Given the description of an element on the screen output the (x, y) to click on. 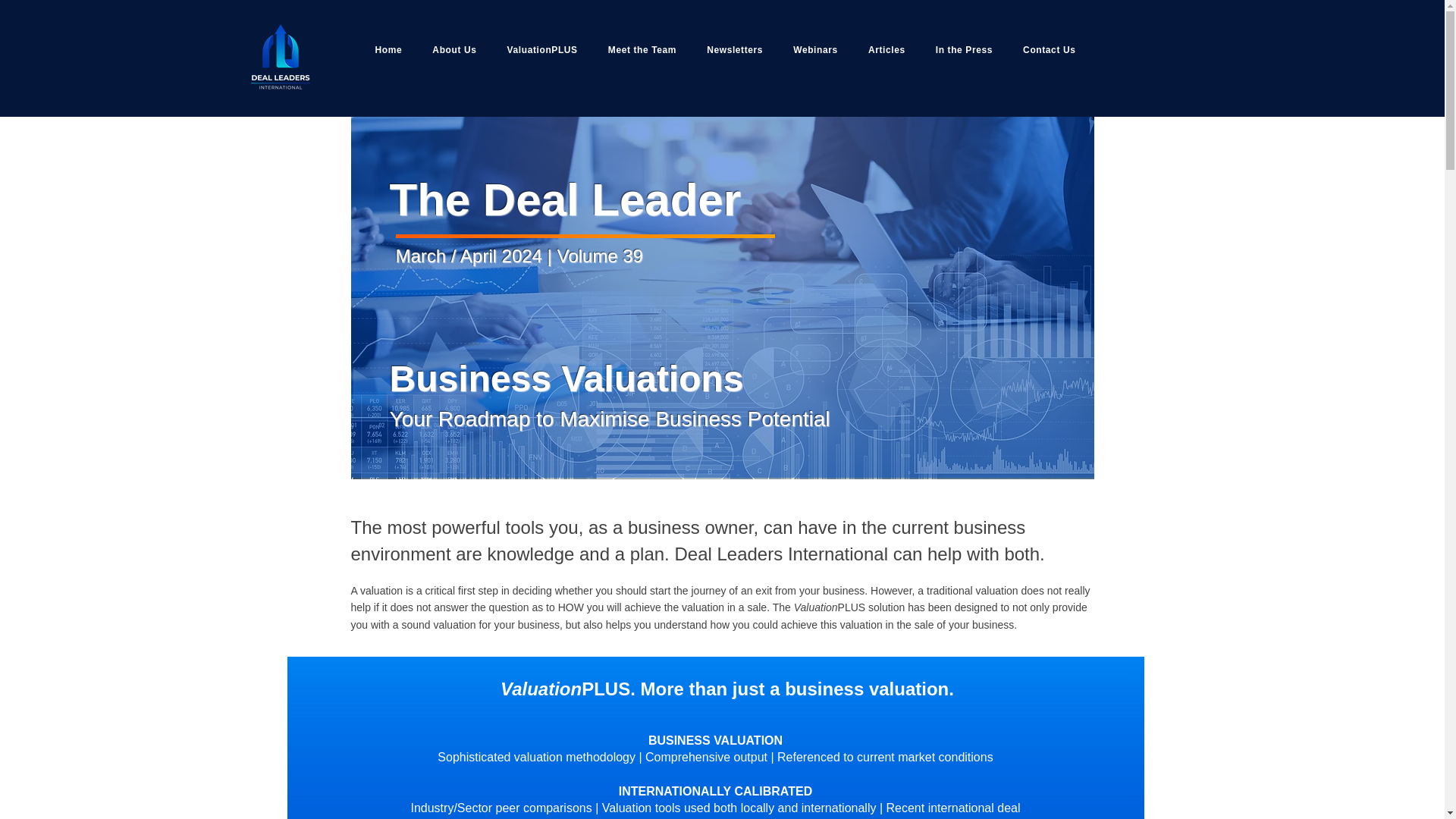
Meet the Team (642, 49)
ValuationPLUS (542, 49)
Articles (886, 49)
In the Press (964, 49)
Webinars (814, 49)
Newsletters (735, 49)
Contact Us (1049, 49)
About Us (453, 49)
